Given the description of an element on the screen output the (x, y) to click on. 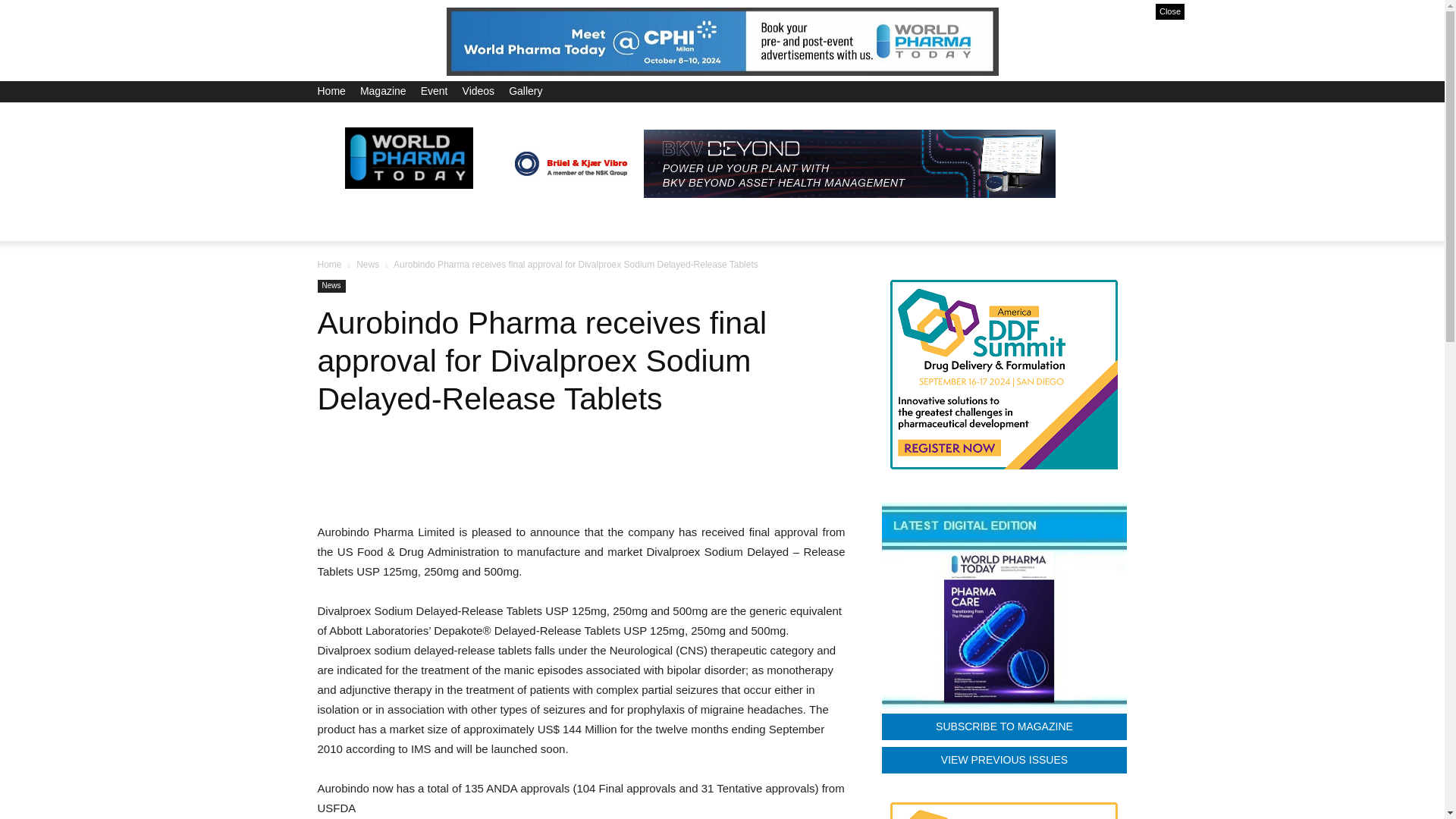
NEWS (396, 222)
Event (434, 91)
HOME (343, 222)
Magazine (382, 91)
Home (331, 91)
Videos (479, 91)
Gallery (524, 91)
World Pharma Today (408, 157)
